Given the description of an element on the screen output the (x, y) to click on. 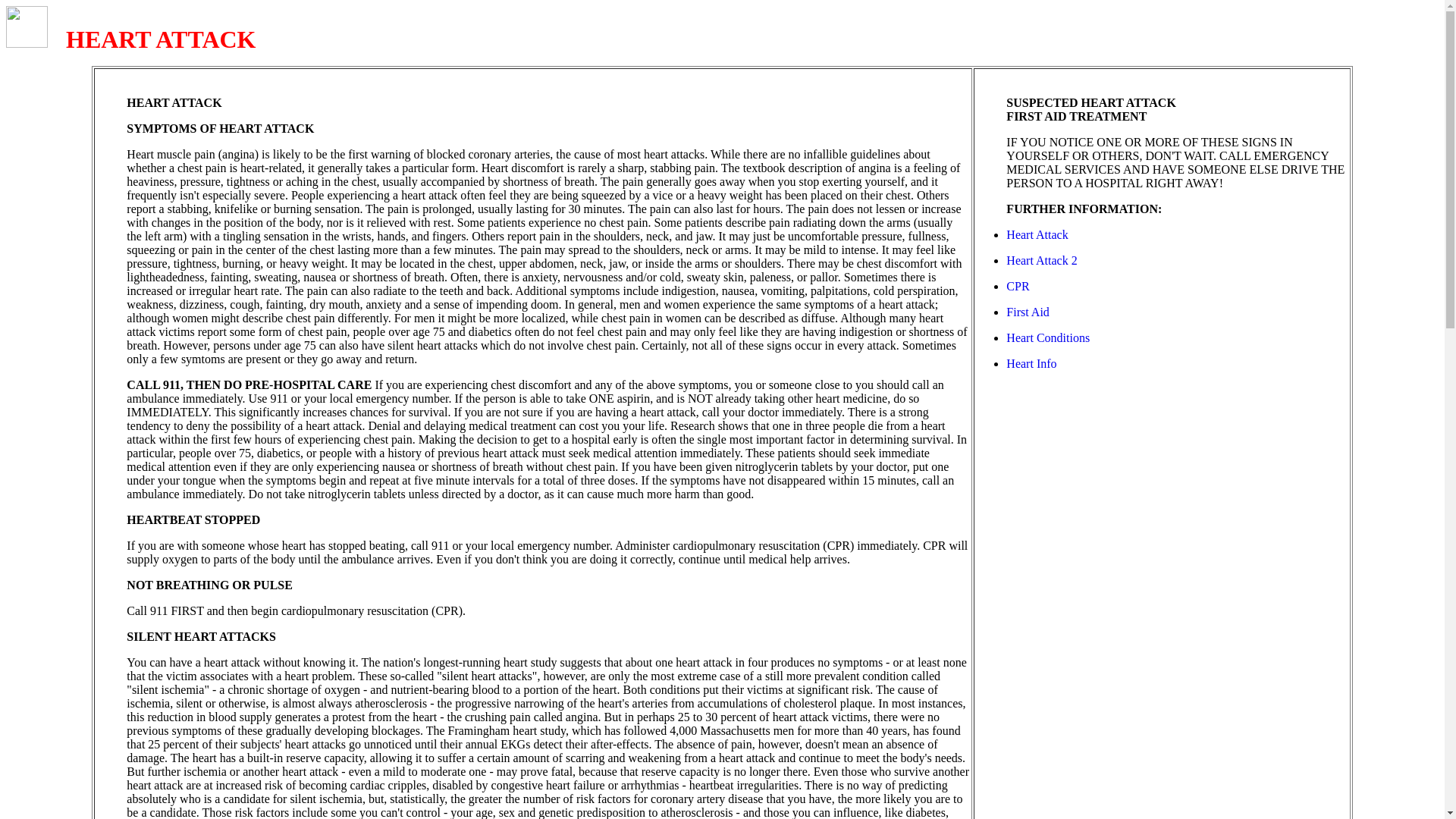
CPR (1017, 286)
Heart Attack 2 (1041, 259)
Heart Info (1031, 363)
First Aid (1027, 311)
Heart Conditions (1047, 337)
Heart Attack (1036, 234)
